Given the description of an element on the screen output the (x, y) to click on. 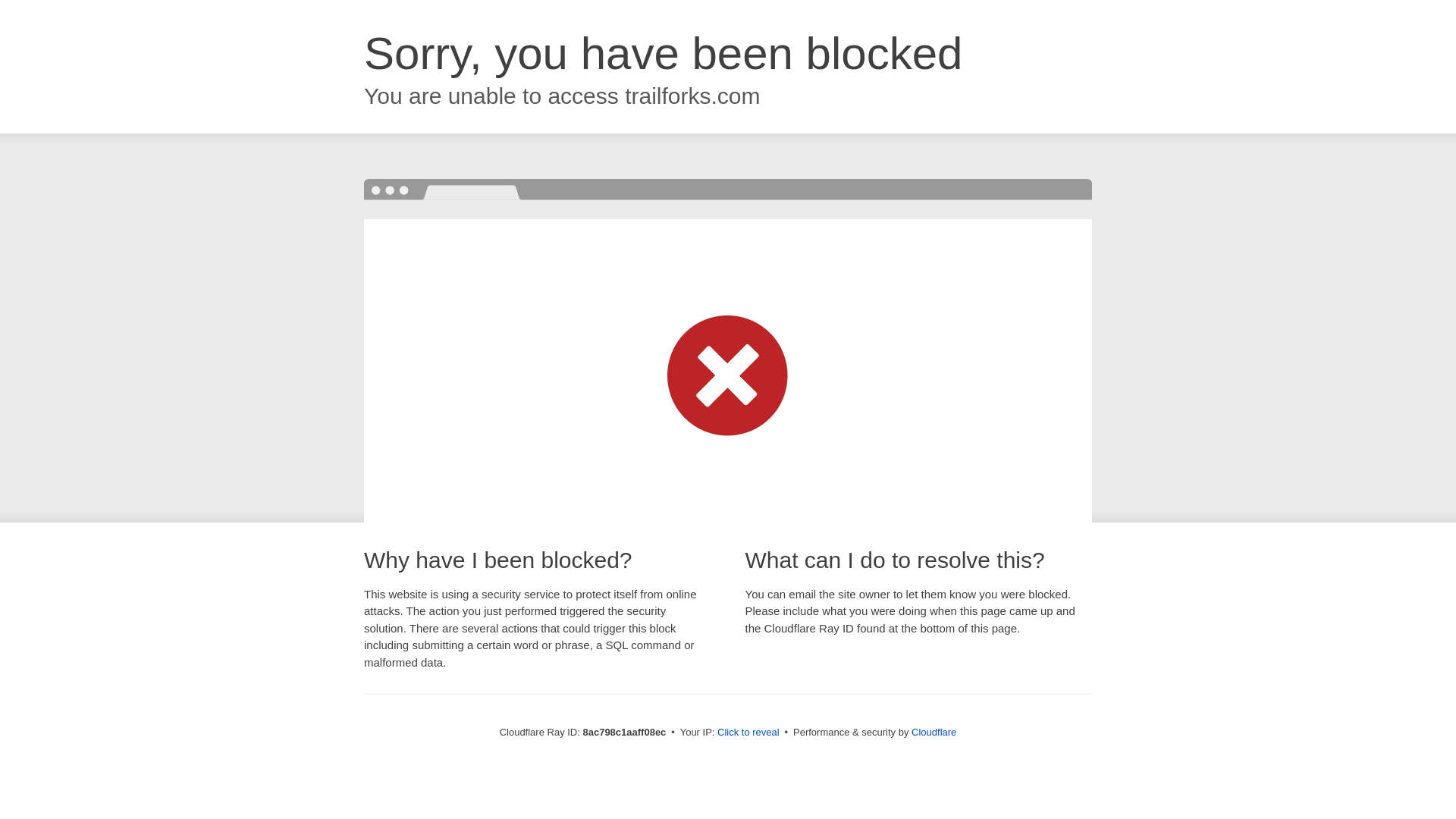
Cloudflare (933, 731)
Click to reveal (747, 732)
